Given the description of an element on the screen output the (x, y) to click on. 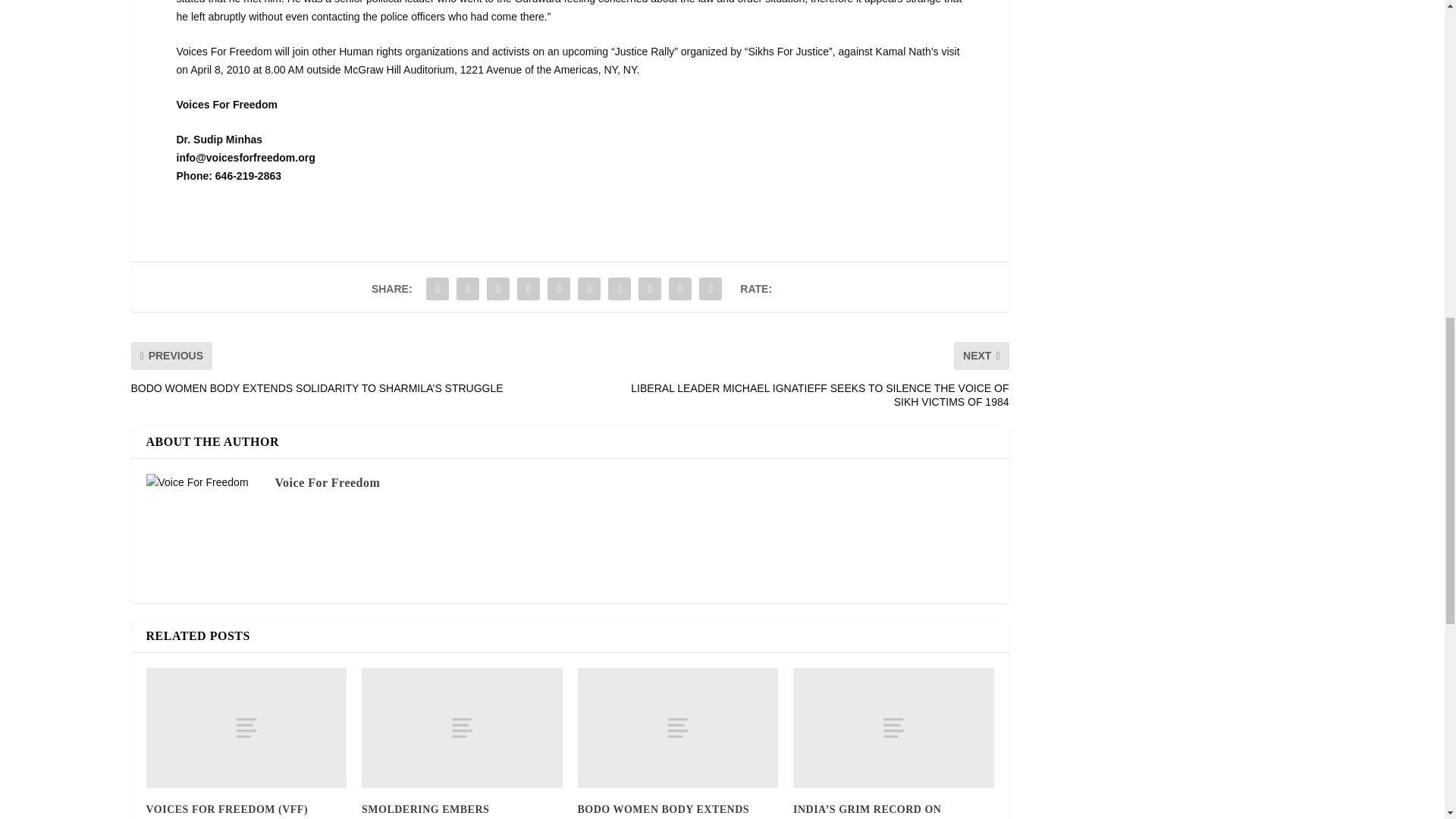
Voice For Freedom (327, 481)
Share "INDIAN MINISTER VISITING THE UNITED STATES" via Print (710, 288)
Share "INDIAN MINISTER VISITING THE UNITED STATES" via Email (680, 288)
View all posts by Voice For Freedom (327, 481)
SMOLDERING EMBERS (425, 808)
